Given the description of an element on the screen output the (x, y) to click on. 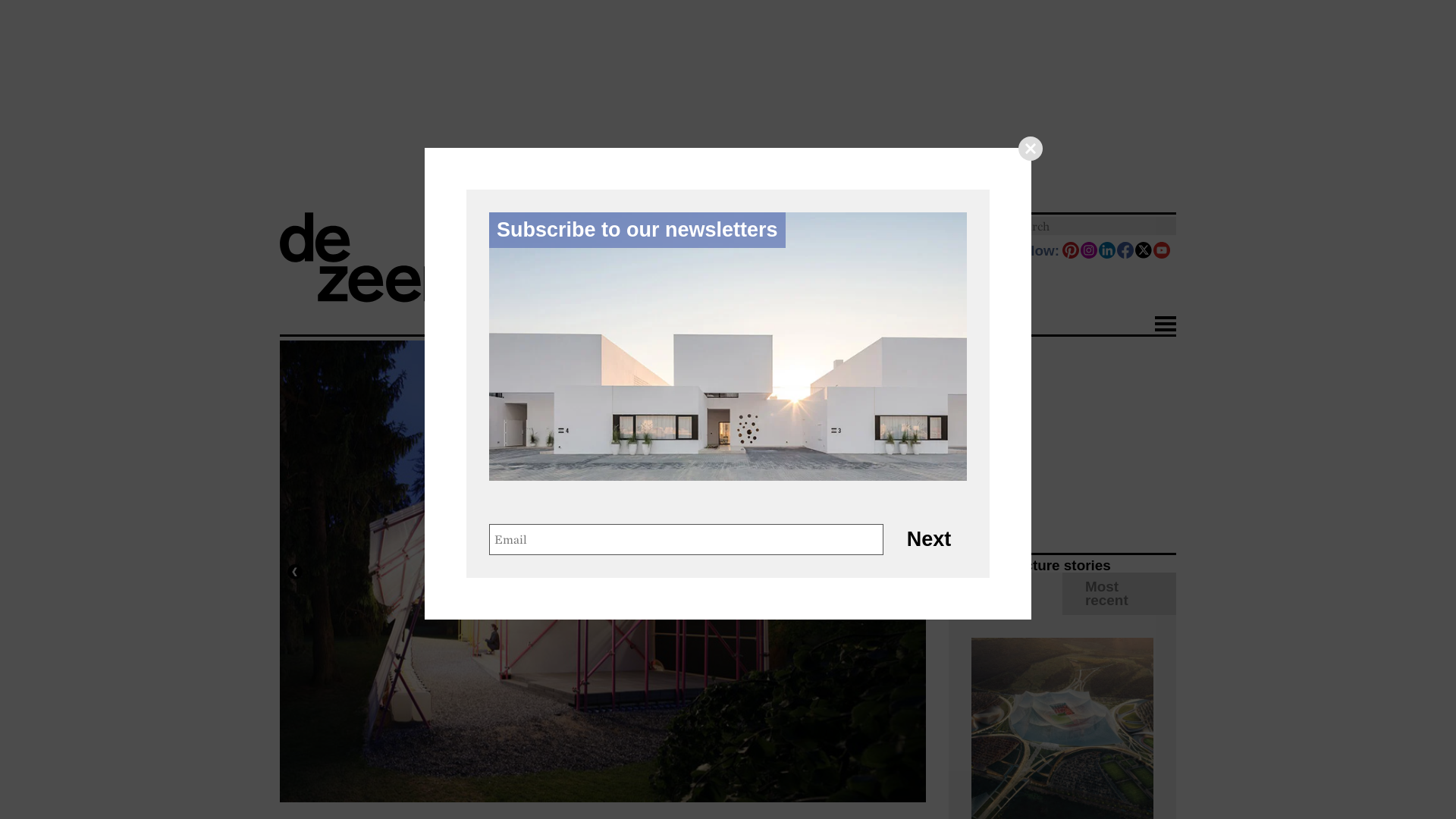
Next image (908, 571)
Close (1029, 148)
Next (928, 539)
3rd party ad content (1062, 434)
Previous image (294, 571)
